Given the description of an element on the screen output the (x, y) to click on. 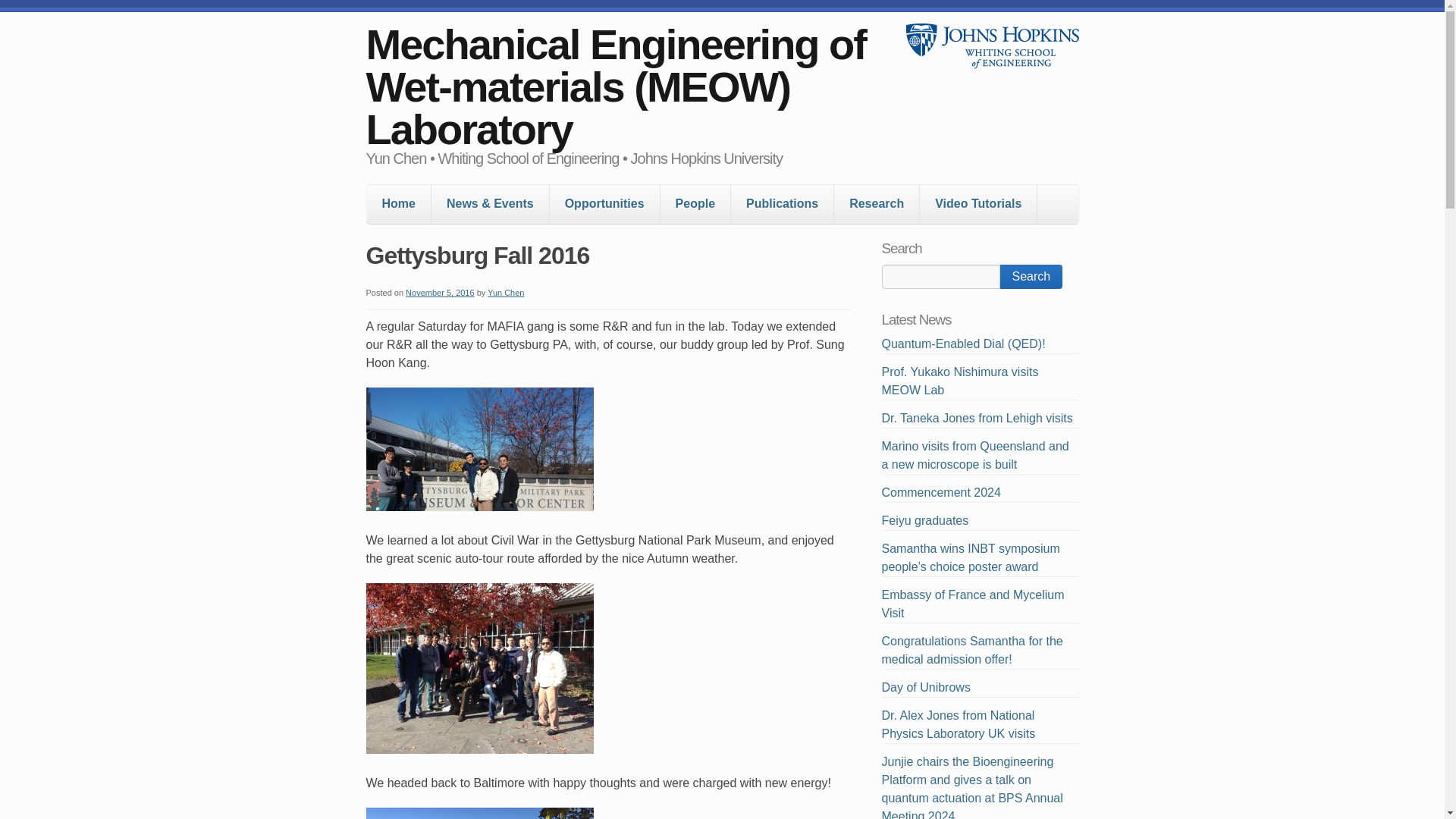
Research (876, 203)
Dr. Taneka Jones from Lehigh visits (975, 418)
Publications (781, 203)
November 5, 2016 (440, 292)
Search (1030, 276)
Opportunities (604, 203)
Video Tutorials (978, 203)
View all posts by Yun Chen (505, 292)
Dr. Alex Jones from National Physics Laboratory UK visits (957, 724)
Yun Chen (505, 292)
